Given the description of an element on the screen output the (x, y) to click on. 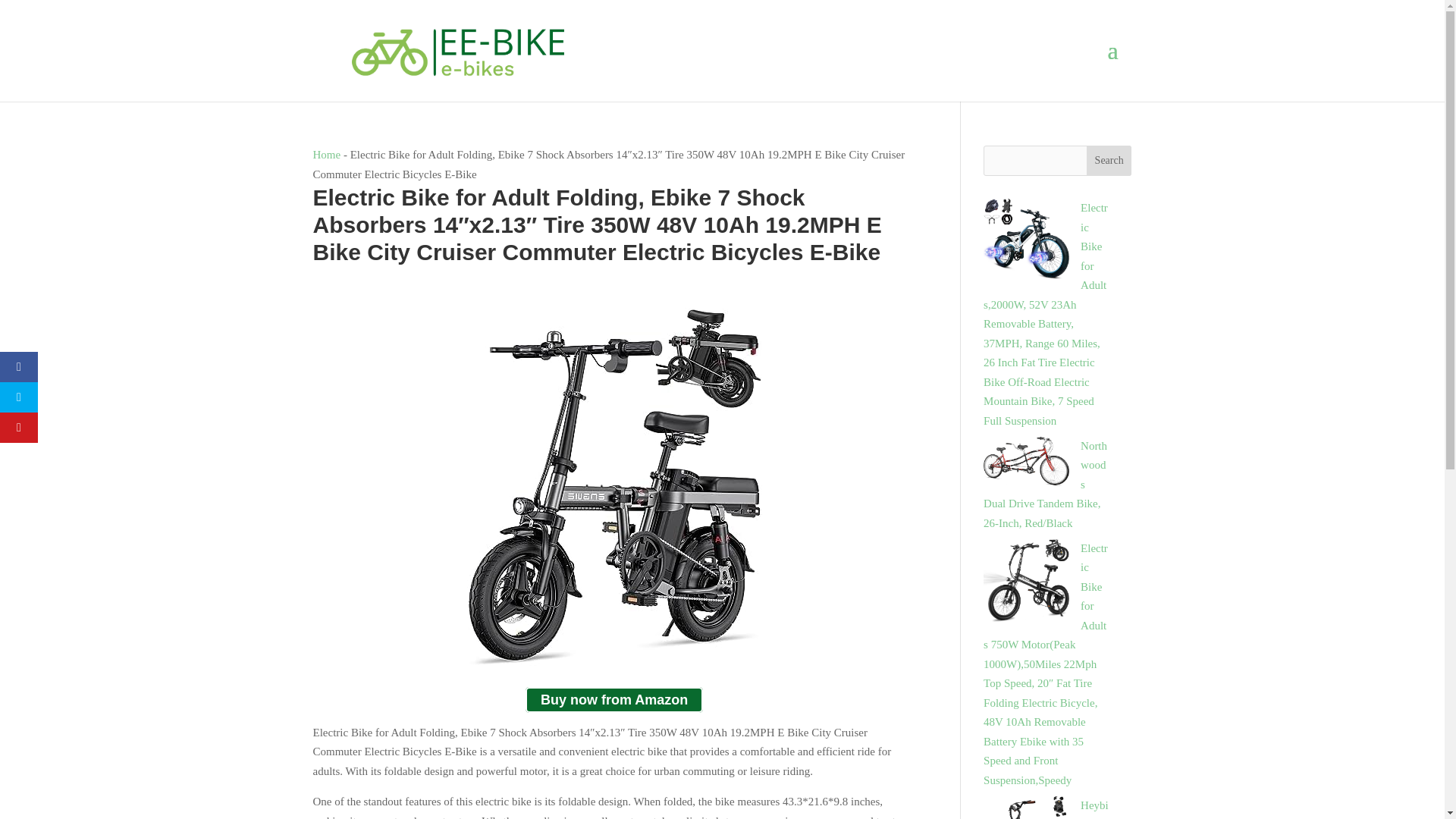
Search (1109, 160)
Buy now from Amazon (614, 700)
Home (326, 154)
